Given the description of an element on the screen output the (x, y) to click on. 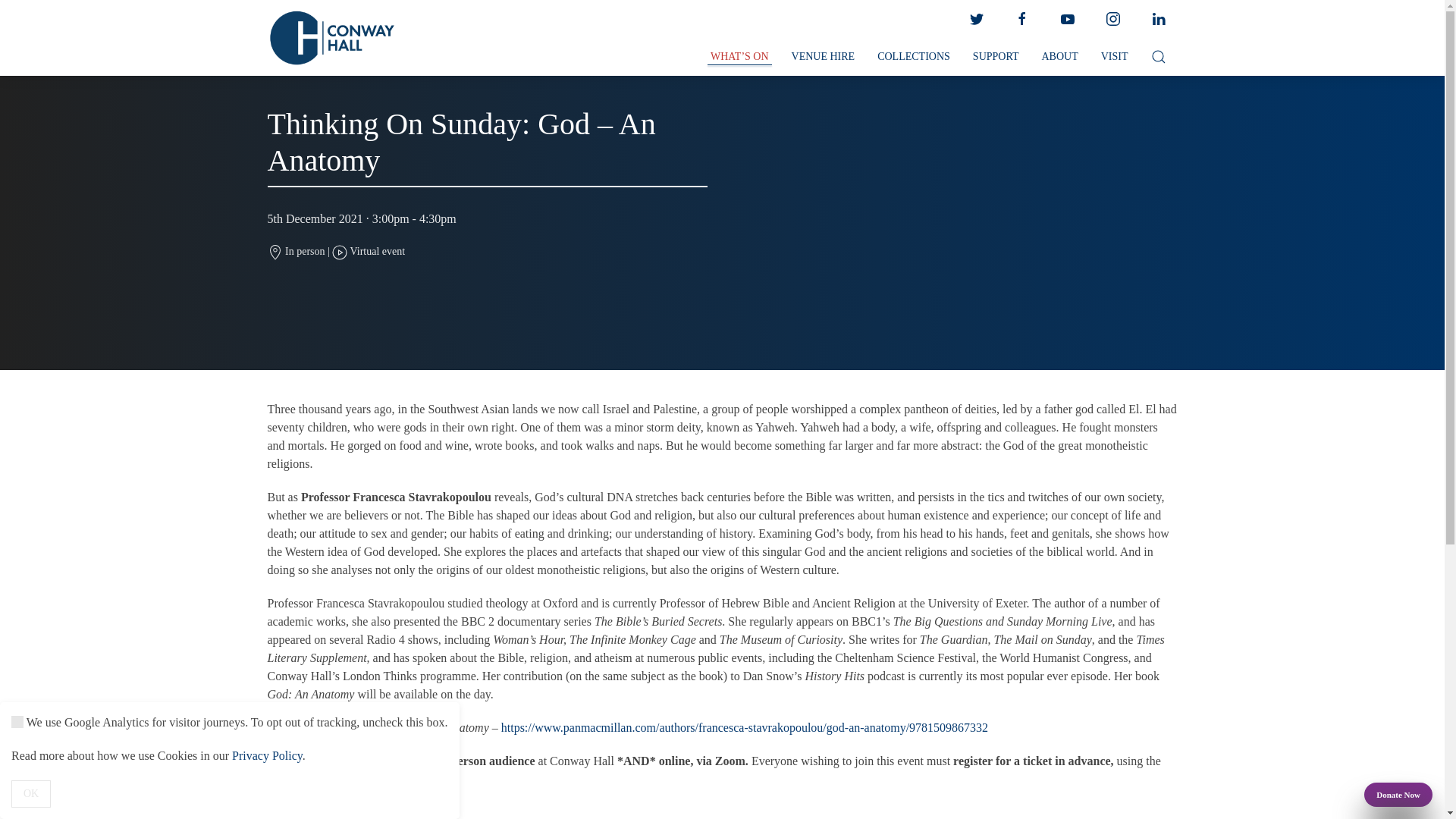
LinkedIn (1157, 19)
YouTube (1067, 19)
ABOUT (1059, 56)
Privacy Policy (266, 755)
VISIT (1114, 56)
Twitter (975, 19)
SUPPORT (995, 56)
Facebook (1022, 19)
COLLECTIONS (913, 56)
VENUE HIRE (823, 56)
Donate Now (1398, 794)
on (17, 721)
OK (30, 793)
instagram (1112, 19)
Conway Hall (331, 38)
